Given the description of an element on the screen output the (x, y) to click on. 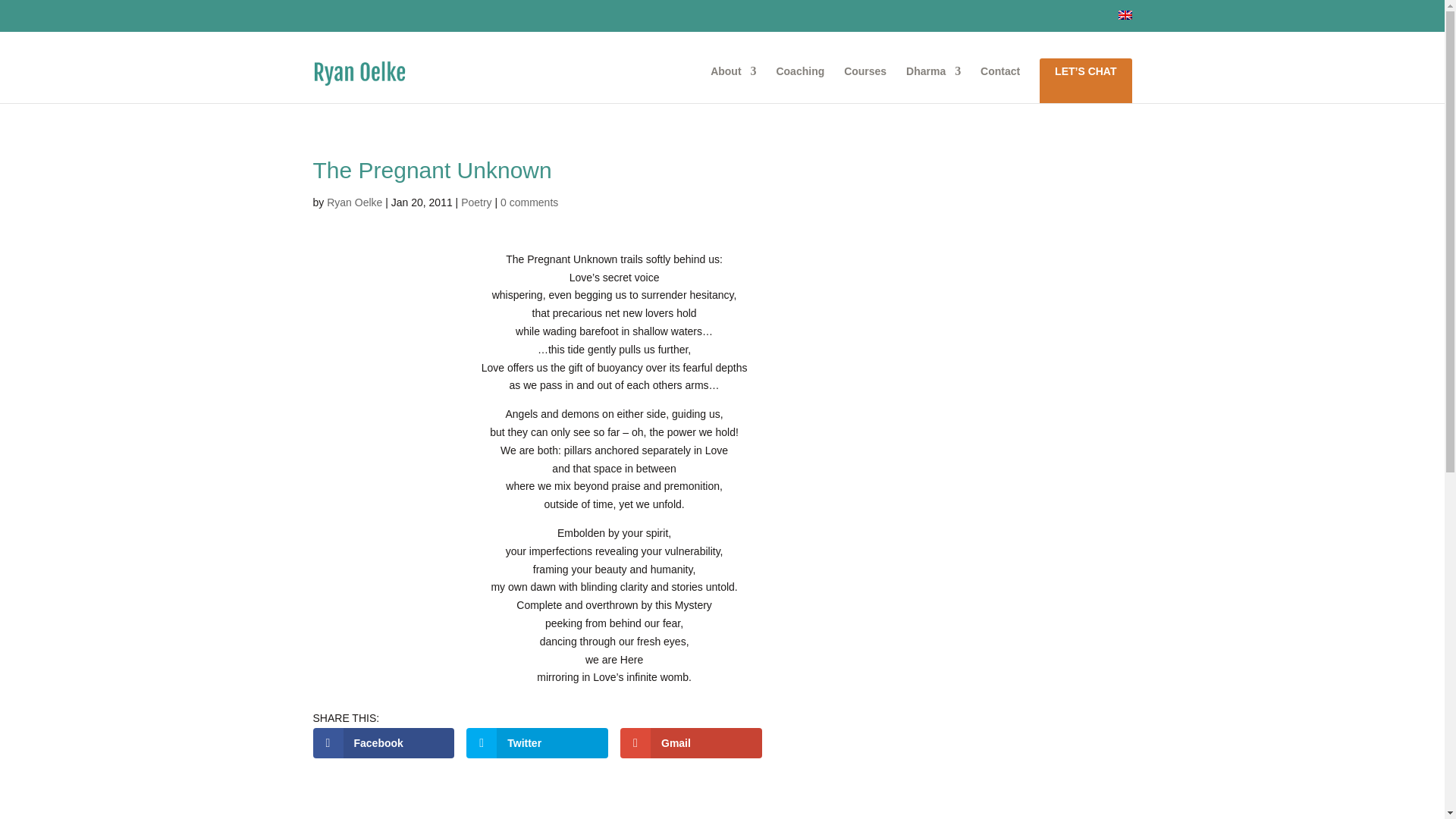
Contact (999, 84)
Facebook (383, 743)
About (732, 84)
0 comments (528, 202)
Dharma (932, 84)
Posts by Ryan Oelke (353, 202)
Poetry (476, 202)
Twitter (536, 743)
Coaching (800, 84)
Courses (865, 84)
Ryan Oelke (353, 202)
Gmail (690, 743)
